Given the description of an element on the screen output the (x, y) to click on. 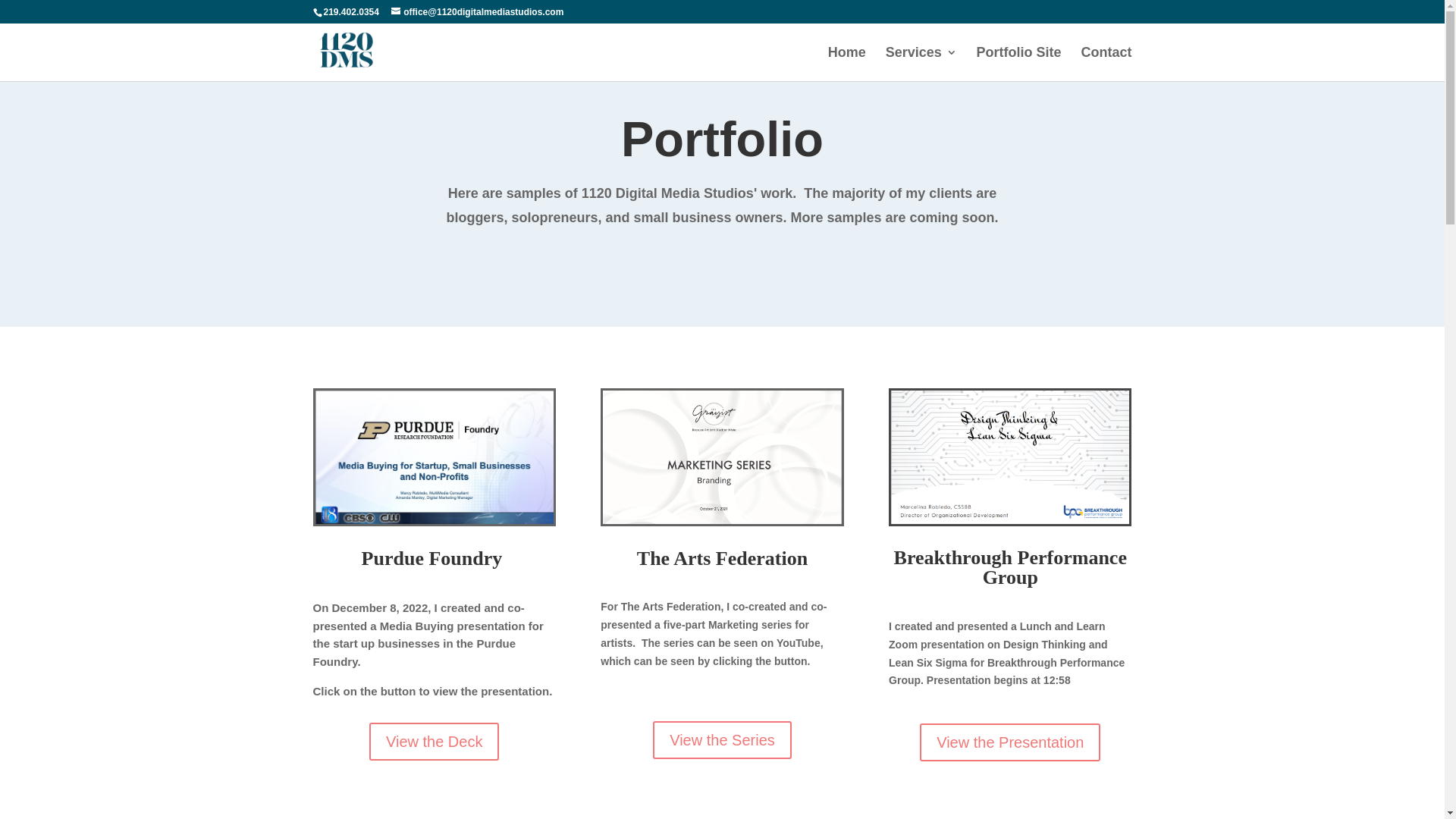
Screen Shot 2022-12-15 at 10.27.27 AM Element type: hover (721, 457)
Portfolio Site Element type: text (1018, 64)
Contact Element type: text (1106, 64)
office@1120digitalmediastudios.com Element type: text (477, 11)
Services Element type: text (921, 64)
View the Deck Element type: text (433, 741)
Screen Shot 2022-12-15 at 10.25.27 AM Element type: hover (1010, 457)
View the Series Element type: text (721, 740)
Purdue Foundry Presentation-title Element type: hover (434, 457)
Home Element type: text (847, 64)
View the Presentation Element type: text (1009, 742)
